Given the description of an element on the screen output the (x, y) to click on. 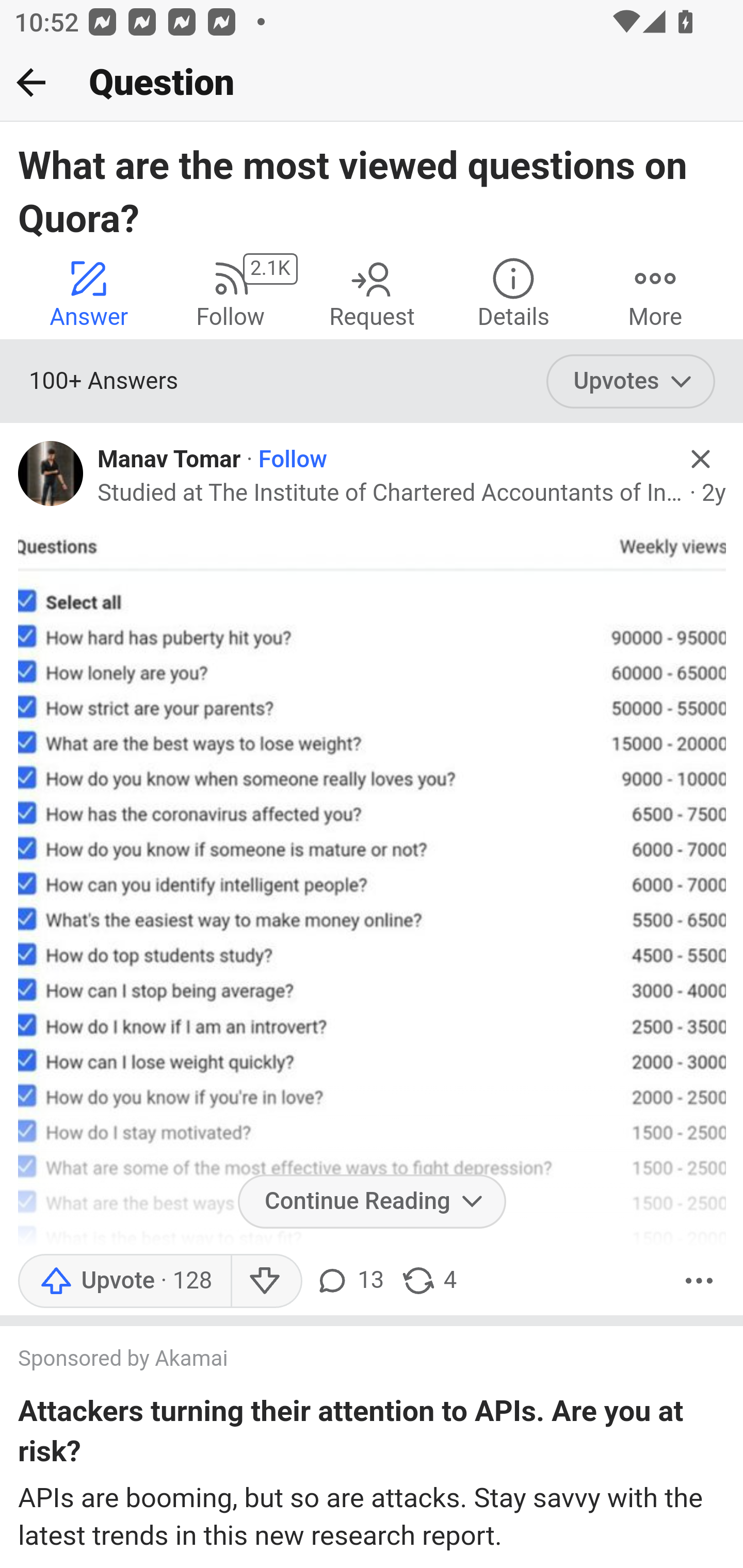
Back Question (371, 82)
Back (30, 82)
Answer (88, 292)
2.1K Follow (230, 292)
Request (371, 292)
Details (513, 292)
More (655, 292)
Upvotes (630, 381)
Hide (700, 459)
Profile photo for Manav Tomar (50, 473)
Manav Tomar (169, 459)
Follow (292, 459)
2y 2 y (713, 493)
Continue Reading (371, 1201)
Upvote (124, 1280)
Downvote (266, 1280)
13 comments (349, 1280)
4 shares (428, 1280)
More (699, 1280)
Sponsored by Akamai (352, 1360)
